Given the description of an element on the screen output the (x, y) to click on. 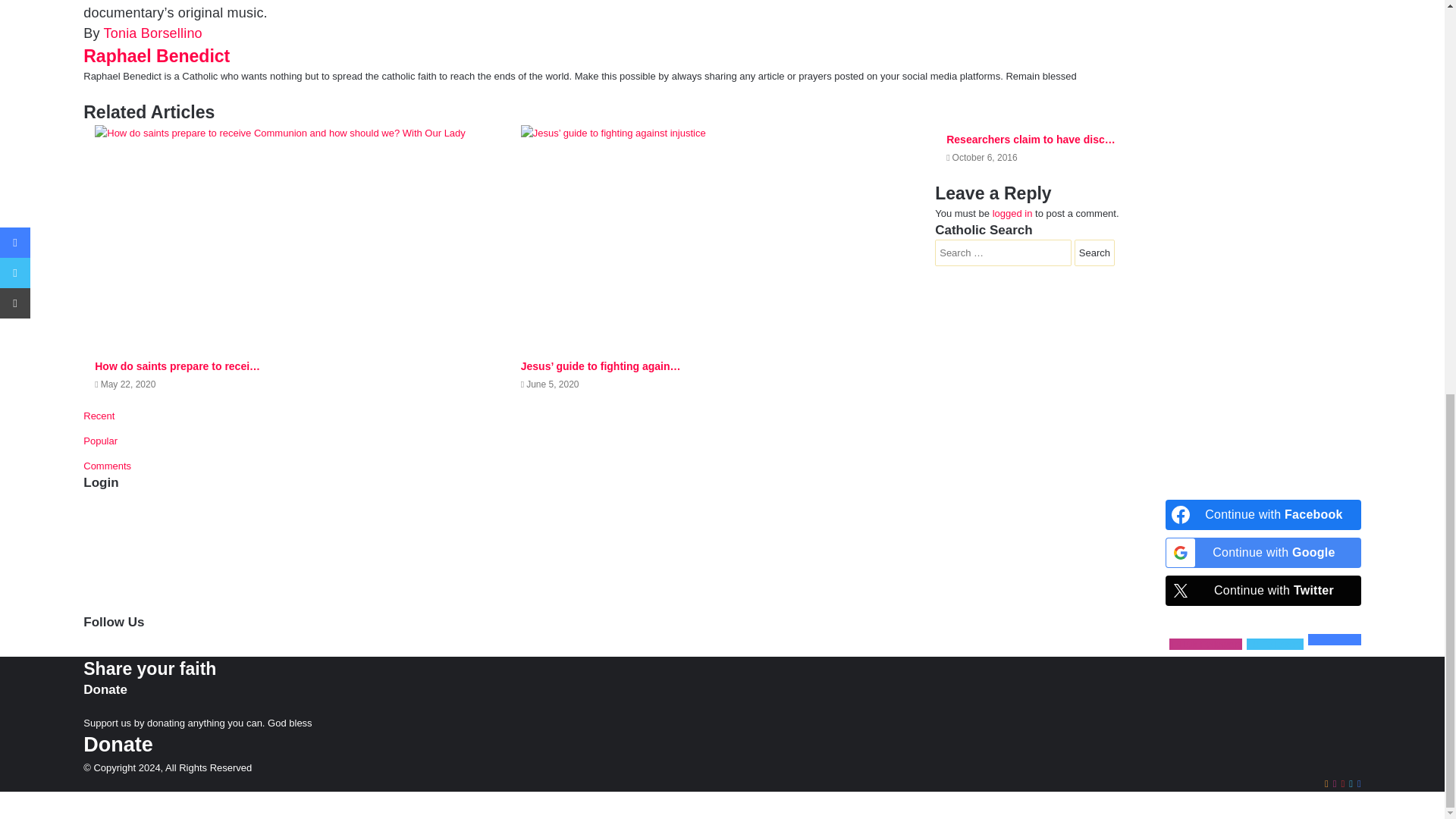
Tonia Borsellino (152, 32)
Raphael Benedict (156, 55)
Search (1094, 252)
Search (1094, 252)
